Given the description of an element on the screen output the (x, y) to click on. 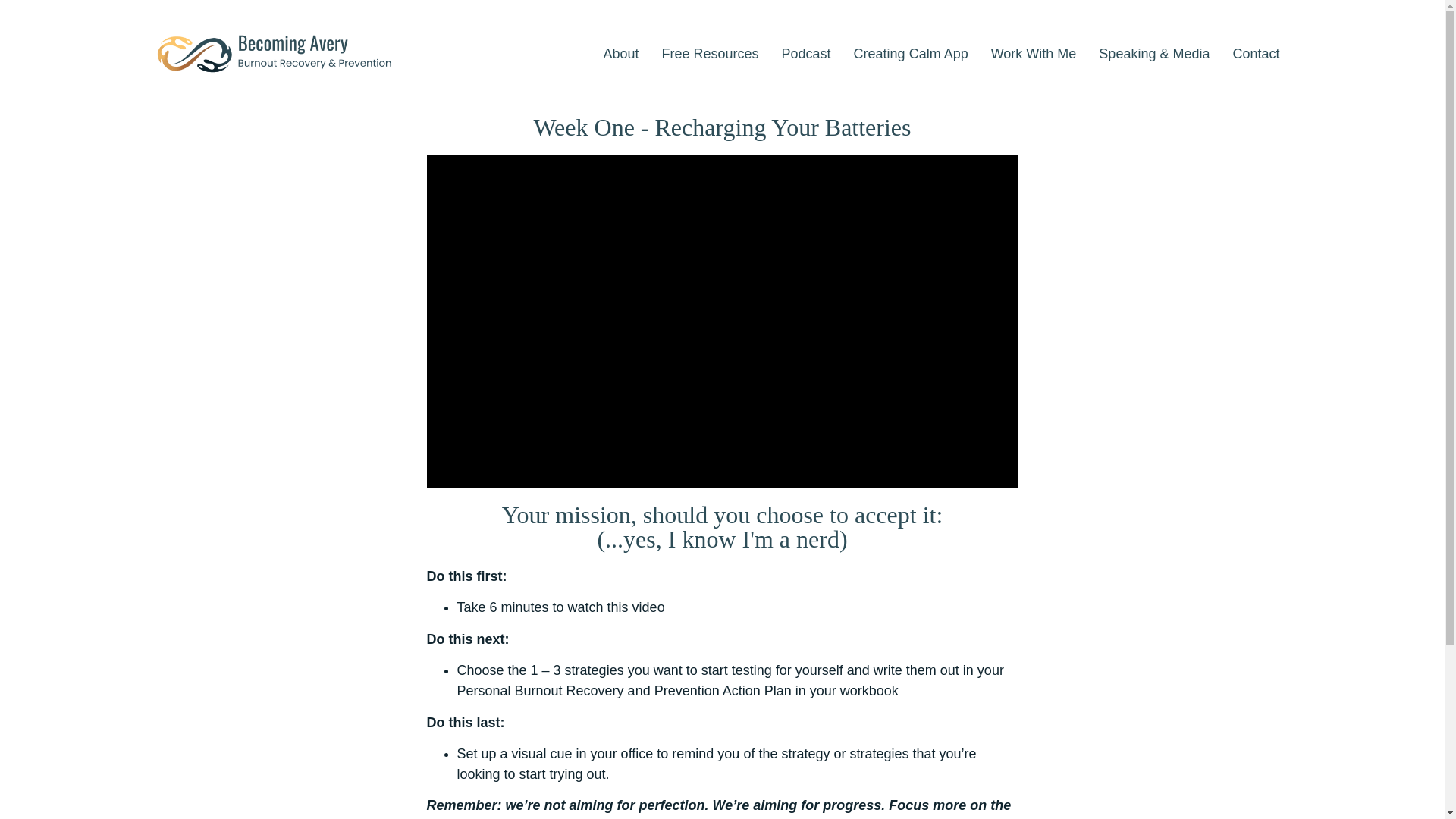
Podcast (806, 53)
Free Resources (709, 53)
Contact (1255, 53)
About (620, 53)
Work With Me (1033, 53)
Creating Calm App (911, 53)
